Given the description of an element on the screen output the (x, y) to click on. 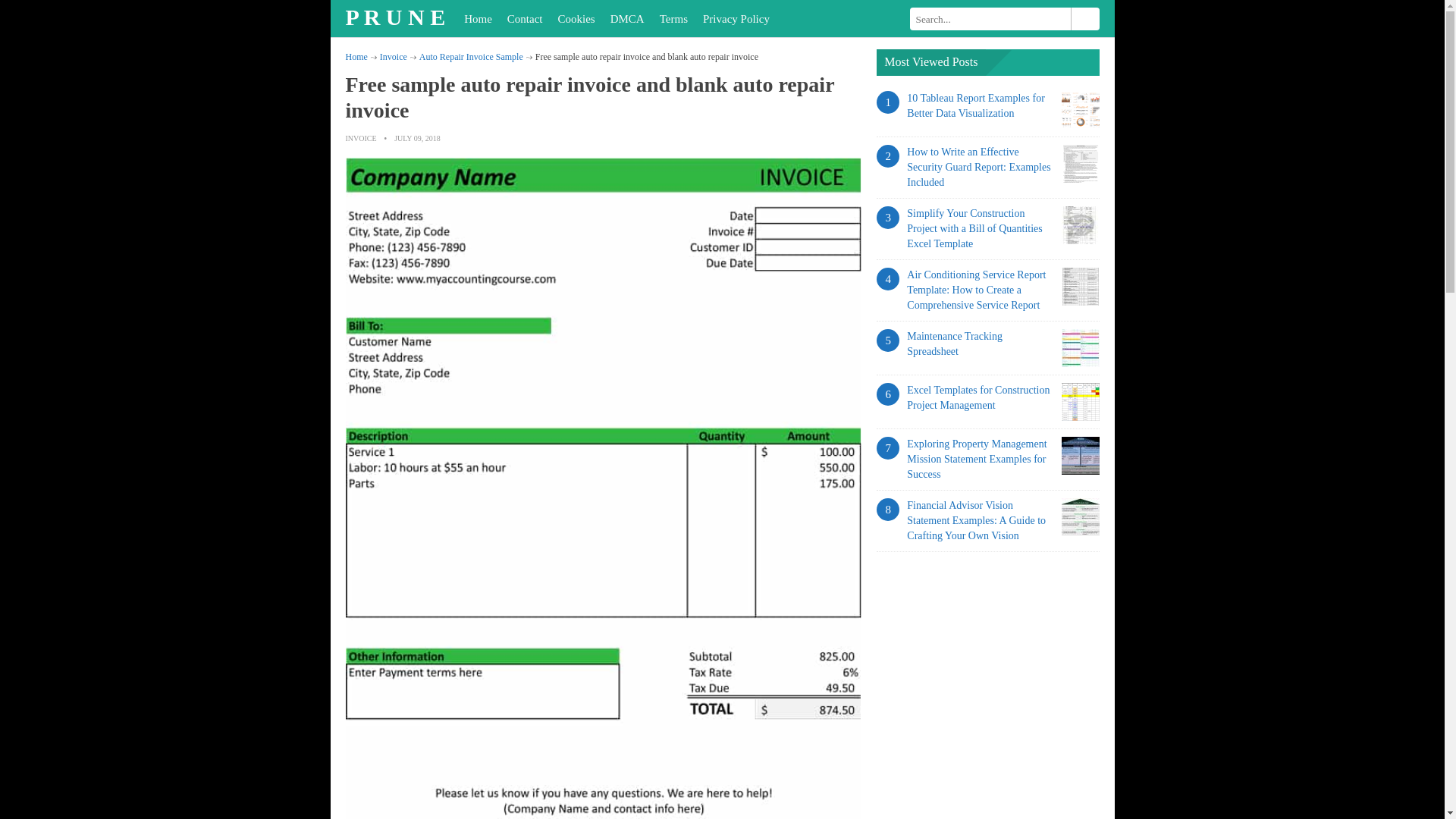
Auto Repair Invoice Sample (470, 56)
Search (1084, 18)
INVOICE (361, 138)
Cookies (576, 18)
Invoice (393, 56)
Terms (673, 18)
Home (478, 18)
DMCA (627, 18)
P R U N E (397, 16)
Home (357, 56)
Contact (524, 18)
Privacy Policy (736, 18)
